Given the description of an element on the screen output the (x, y) to click on. 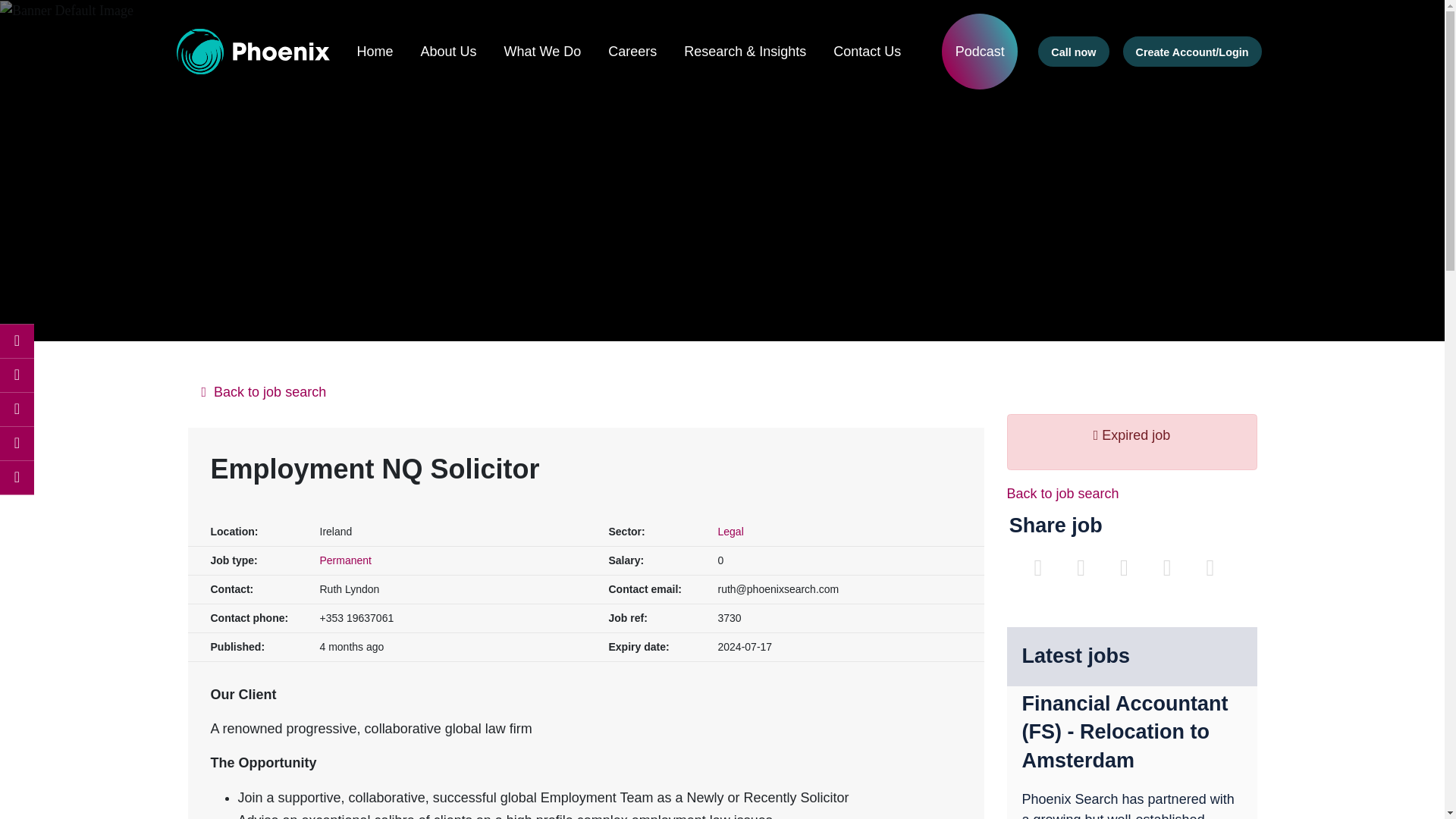
Contact Us (866, 50)
What We Do (541, 50)
Podcast (979, 51)
Home (374, 50)
Careers (632, 50)
youtube (16, 478)
About Us (448, 50)
linkedIn (16, 374)
facebook (16, 341)
instagram (16, 442)
twitter (16, 409)
Call now (1073, 51)
